Given the description of an element on the screen output the (x, y) to click on. 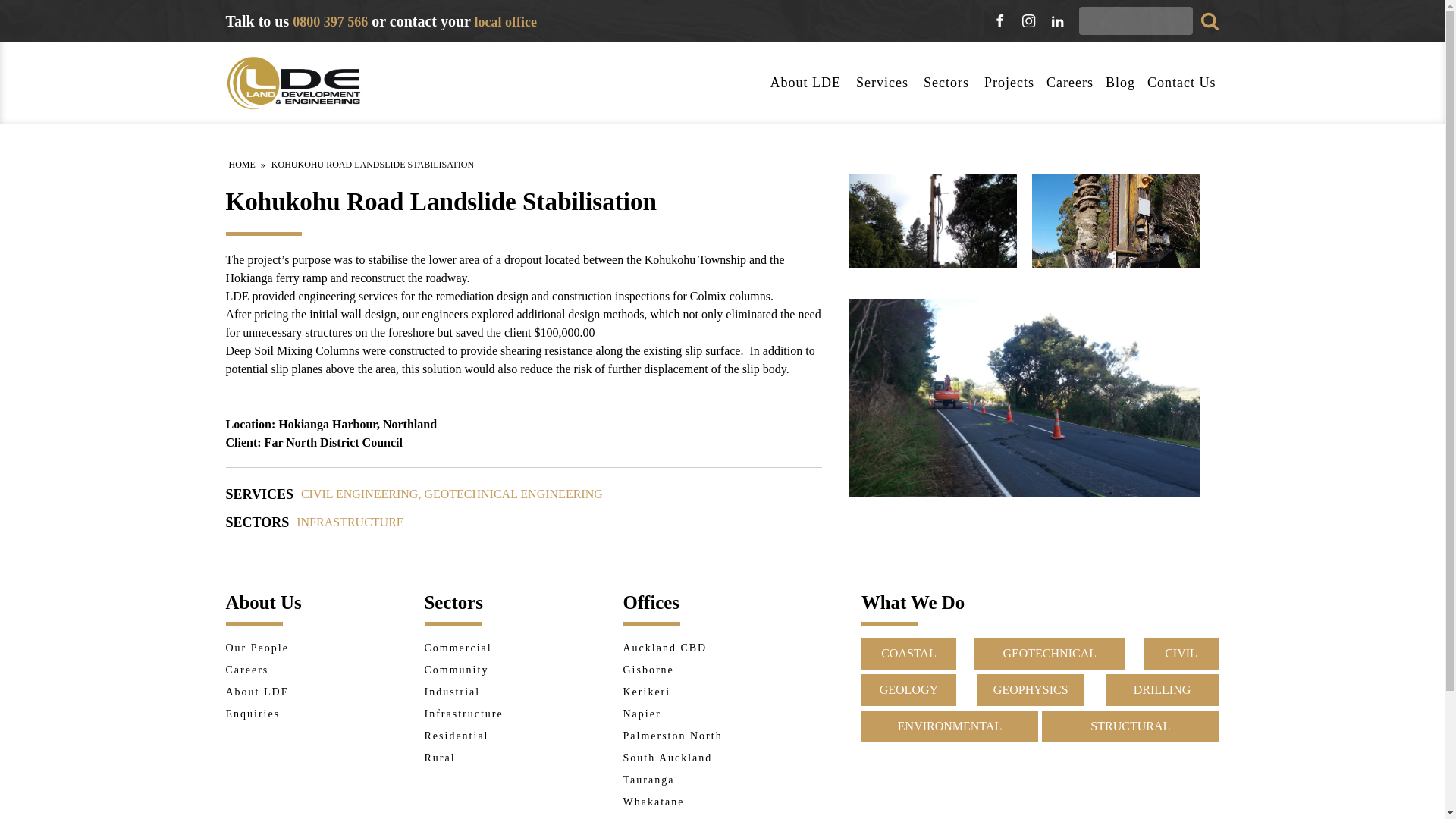
About LDE (807, 83)
0800 397 566 (330, 20)
Services (883, 83)
Breadcrumb link to Home (242, 163)
Search (29, 13)
